Given the description of an element on the screen output the (x, y) to click on. 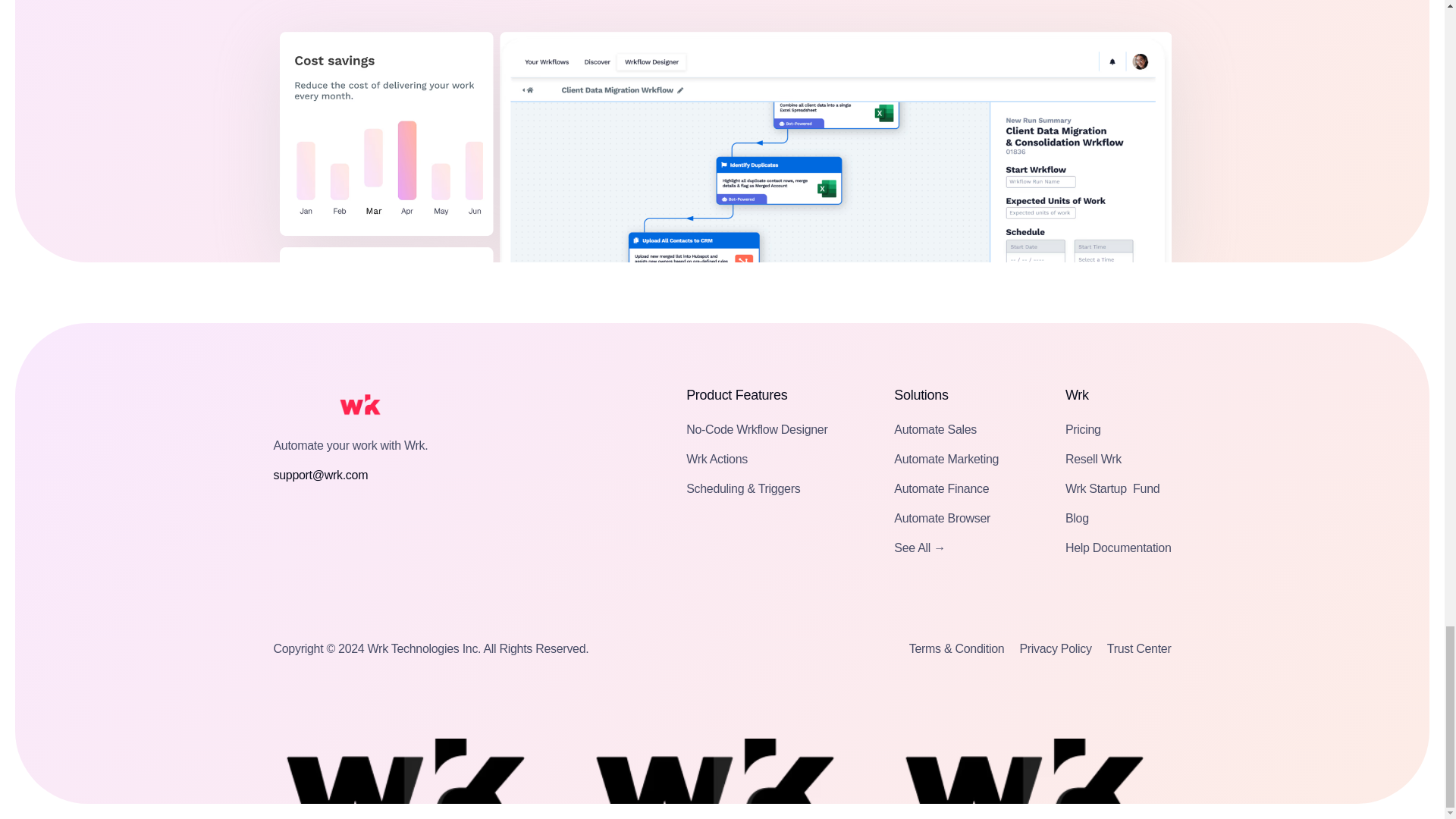
Wrk Actions (716, 458)
No-Code Wrkflow Designer (756, 429)
Automate Marketing (945, 458)
Blog (1077, 517)
Pricing (1082, 429)
Privacy Policy (1054, 648)
Resell Wrk (1093, 458)
Help Documentation (1118, 548)
Automate Sales (934, 429)
Trust Center (1139, 648)
